Given the description of an element on the screen output the (x, y) to click on. 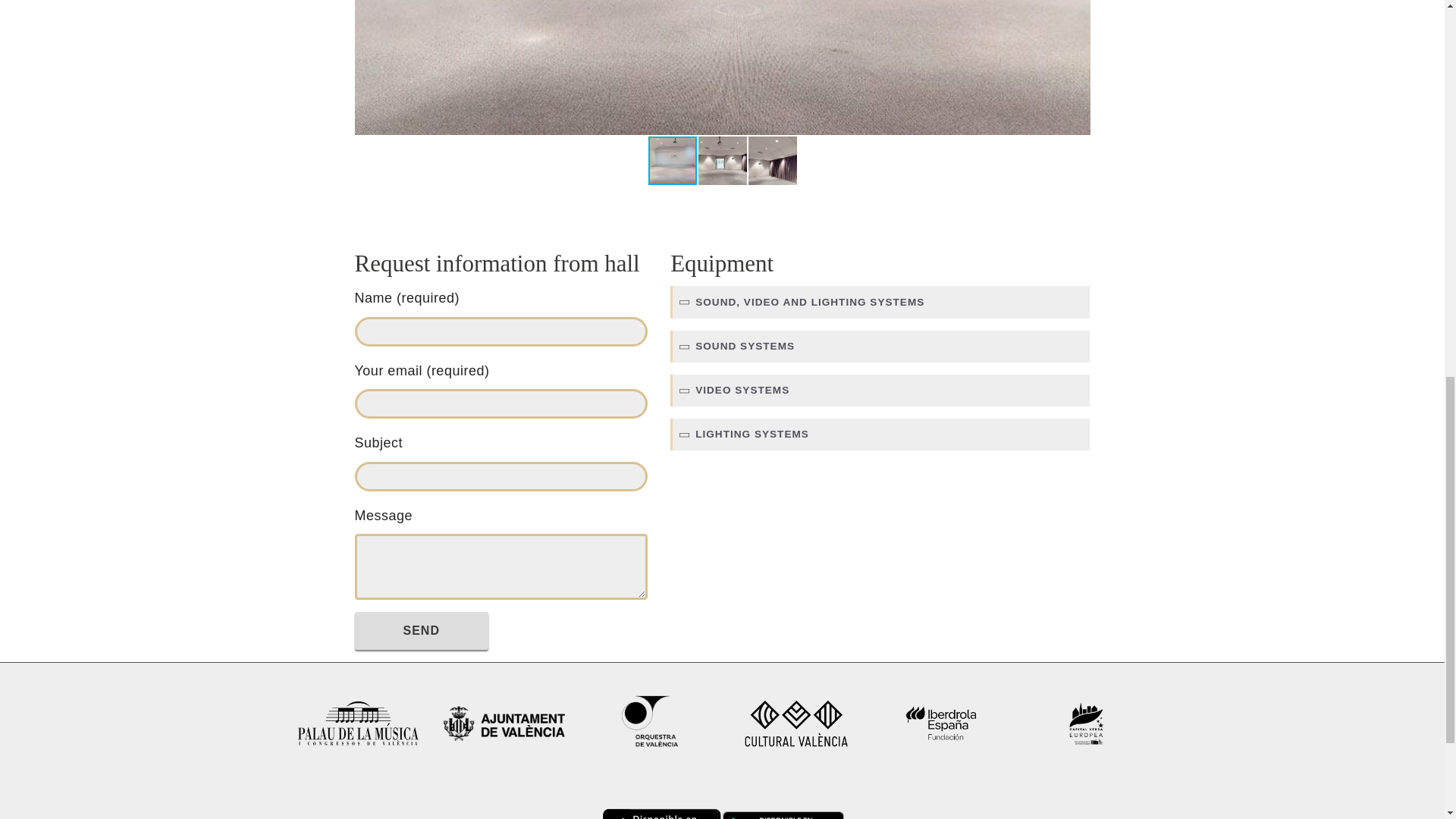
Send (421, 630)
